Given the description of an element on the screen output the (x, y) to click on. 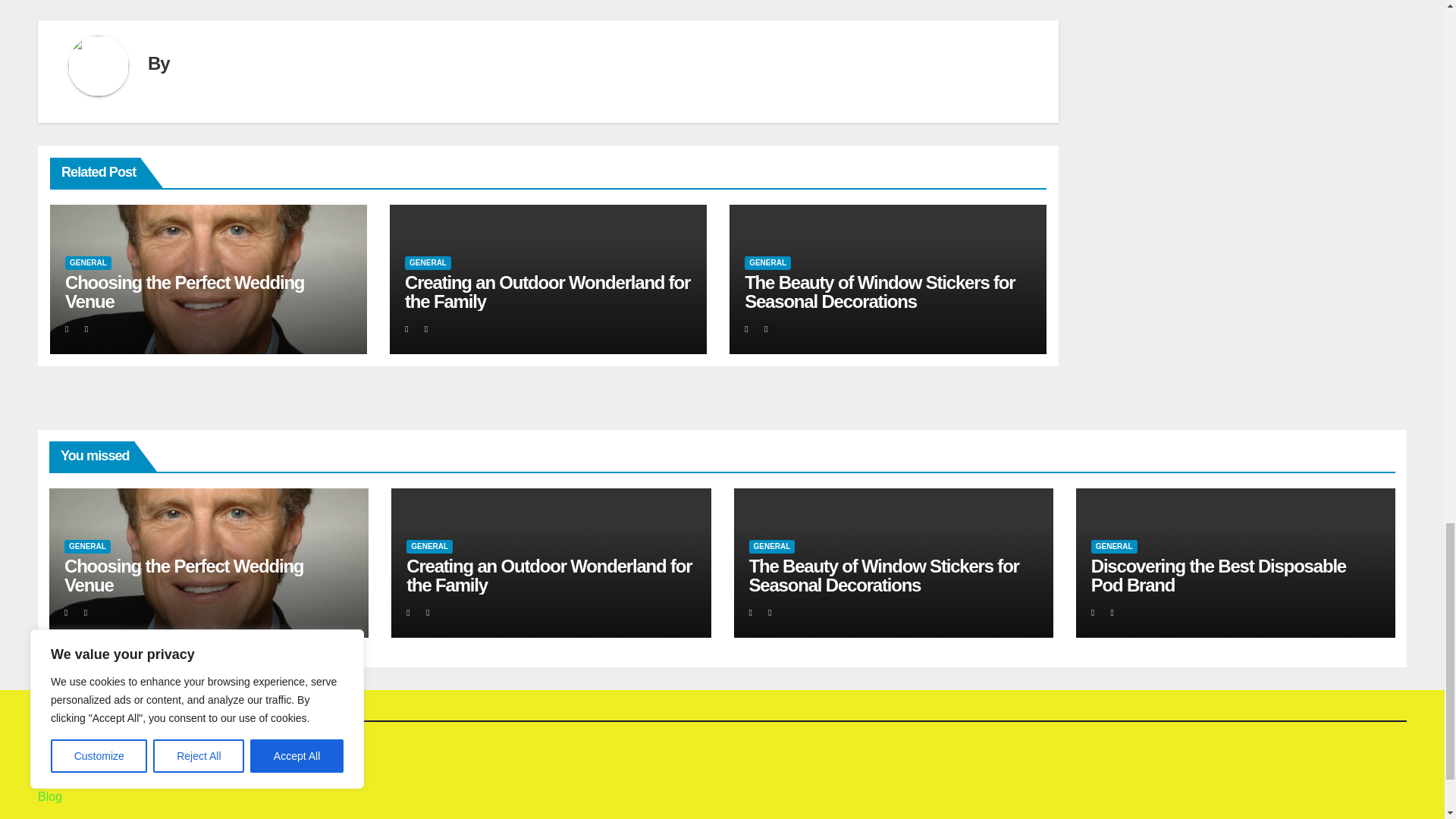
Permalink to: Discovering the Best Disposable Pod Brand (1217, 575)
Permalink to: Choosing the Perfect Wedding Venue (184, 291)
Permalink to: Creating an Outdoor Wonderland for the Family (547, 291)
Permalink to: Choosing the Perfect Wedding Venue (183, 575)
Permalink to: Creating an Outdoor Wonderland for the Family (548, 575)
